Given the description of an element on the screen output the (x, y) to click on. 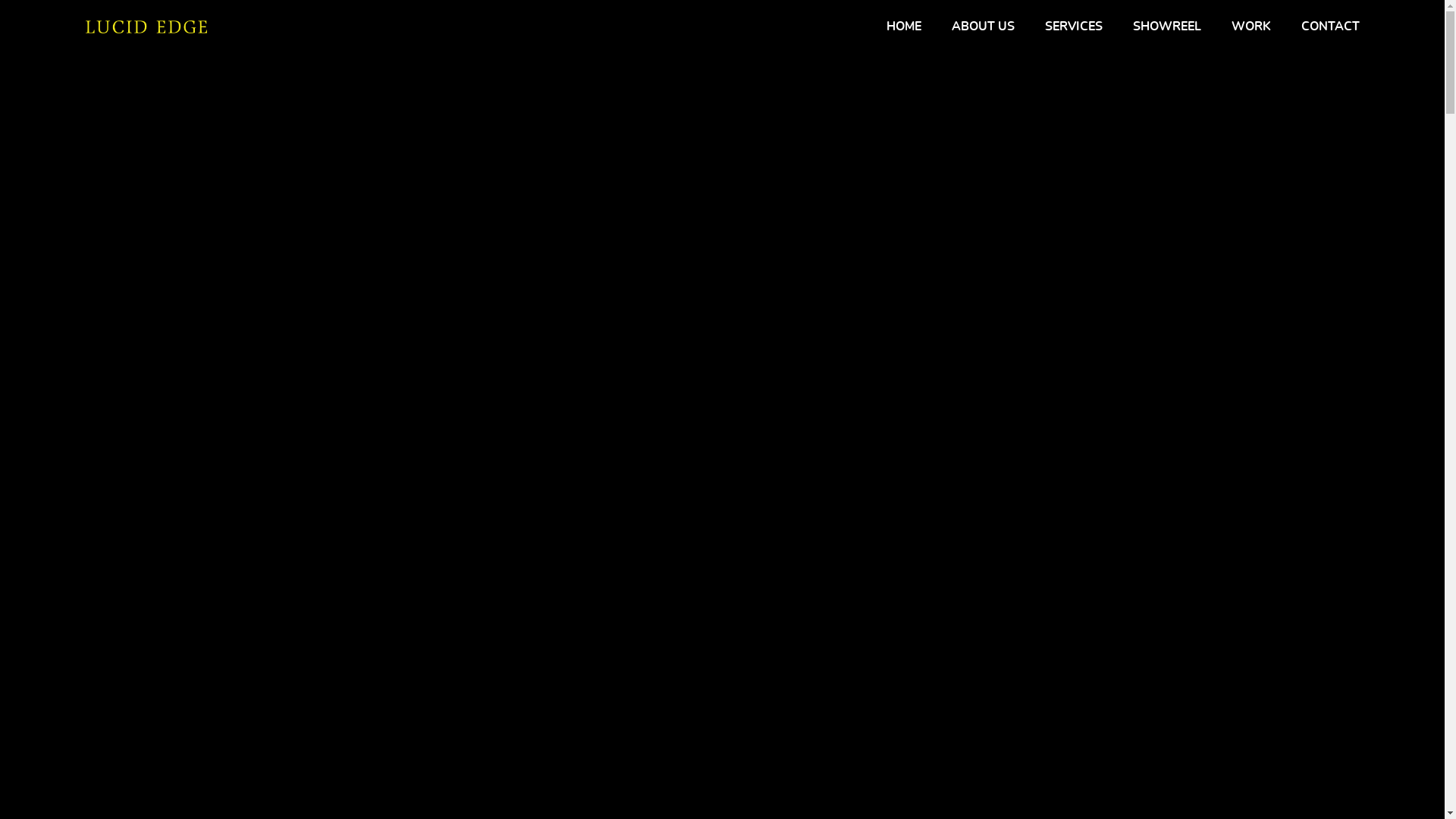
ABOUT US Element type: text (981, 26)
SHOWREEL Element type: text (1166, 26)
WORK Element type: text (1250, 26)
SERVICES Element type: text (1073, 26)
CONTACT Element type: text (1330, 26)
HOME Element type: text (902, 26)
